Given the description of an element on the screen output the (x, y) to click on. 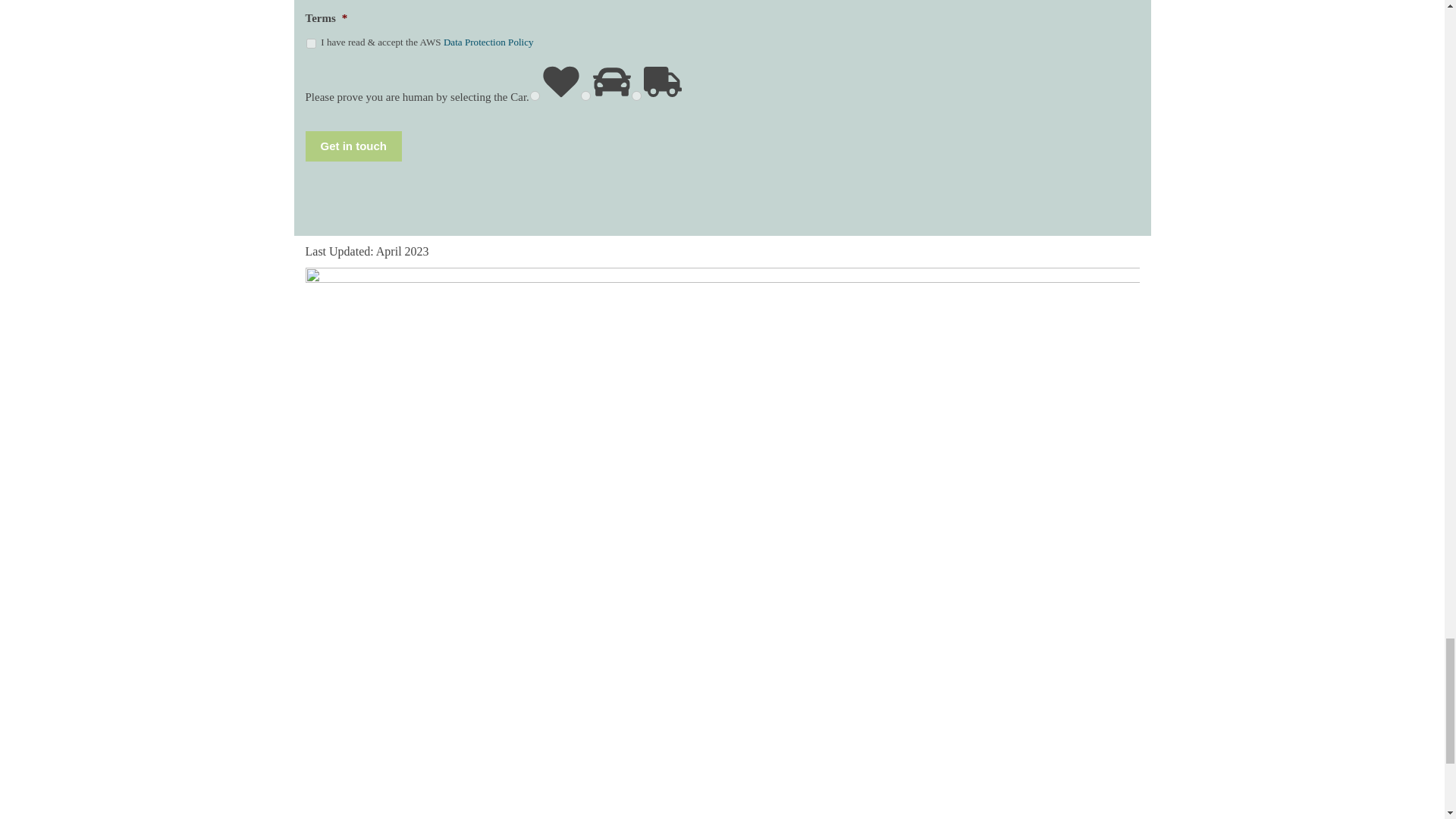
Get in touch (352, 146)
bot (636, 95)
bot (534, 95)
